Given the description of an element on the screen output the (x, y) to click on. 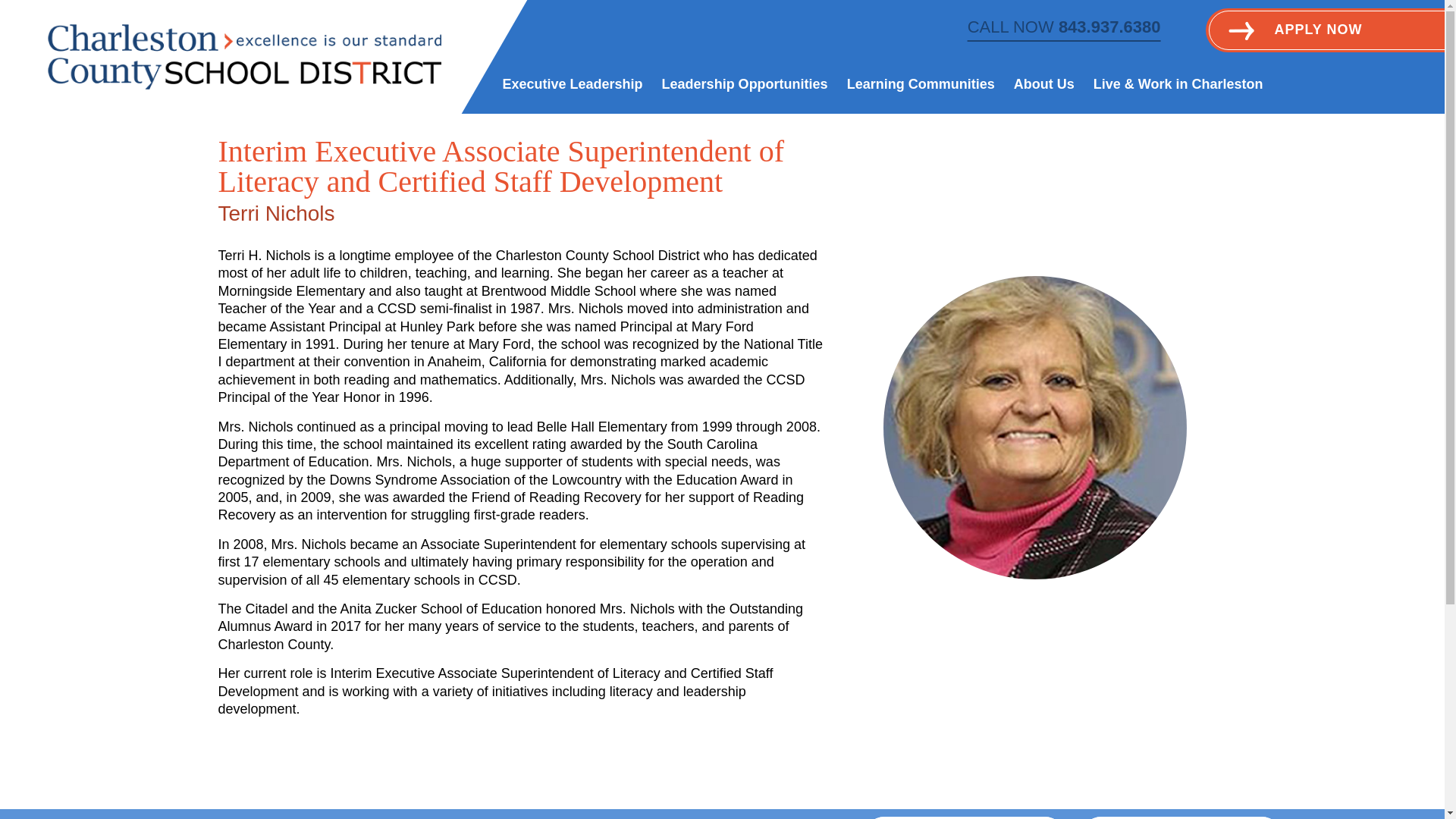
Executive Leadership (572, 86)
About Us (1043, 86)
CALL NOW 843.937.6380 (1064, 29)
Leadership Opportunities (745, 86)
APPLY NOW (1300, 23)
Learning Communities (920, 86)
GET DIRECTIONS (1180, 817)
843.937.6380 (964, 817)
